Given the description of an element on the screen output the (x, y) to click on. 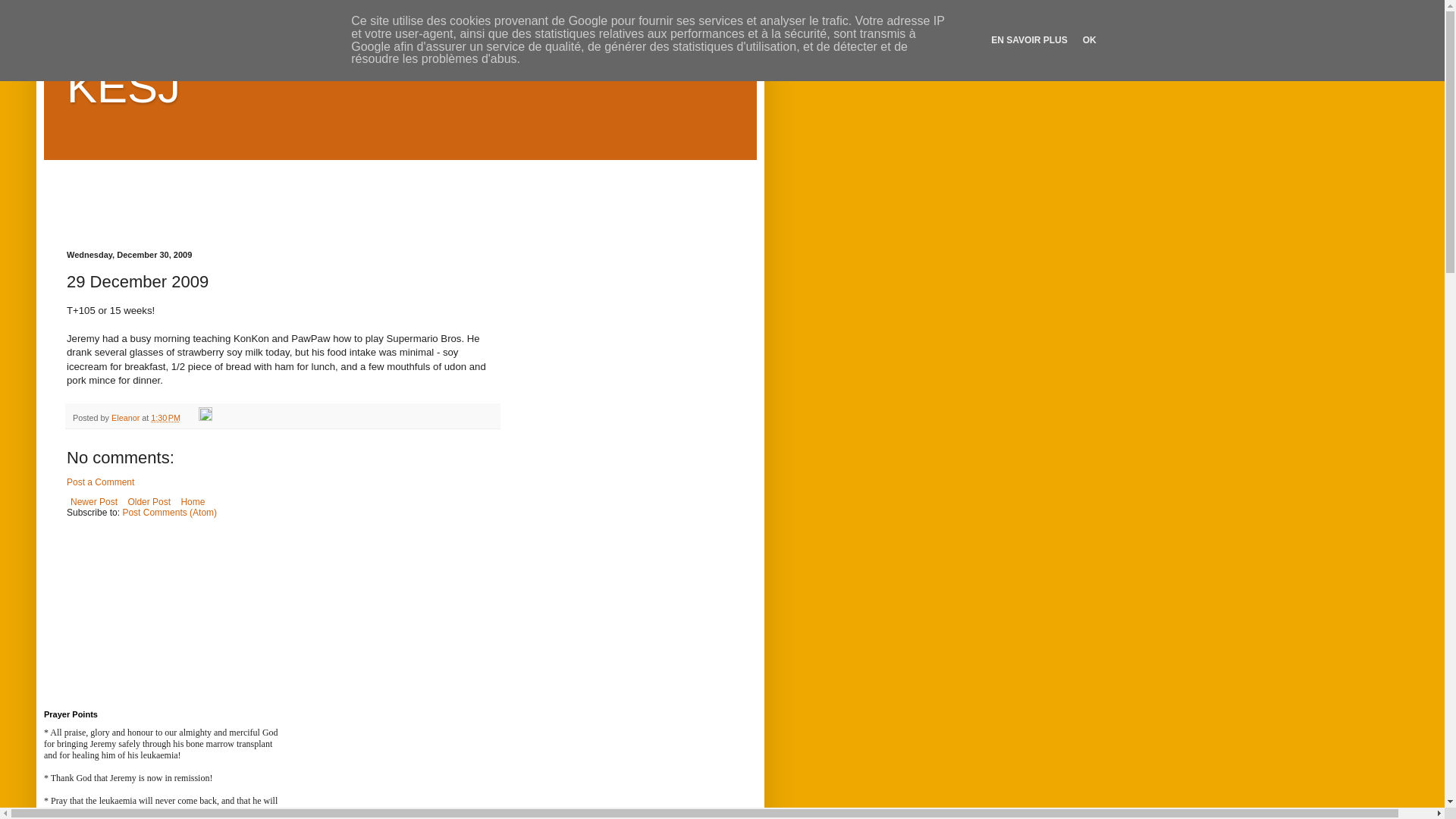
Email Post Element type: hover (190, 417)
Post a Comment Element type: text (100, 481)
EN SAVOIR PLUS Element type: text (1028, 39)
Newer Post Element type: text (93, 501)
Home Element type: text (192, 501)
Older Post Element type: text (148, 501)
KESJ Element type: text (123, 86)
Edit Post Element type: hover (205, 417)
Eleanor Element type: text (126, 417)
OK Element type: text (1089, 39)
Post Comments (Atom) Element type: text (169, 512)
